Given the description of an element on the screen output the (x, y) to click on. 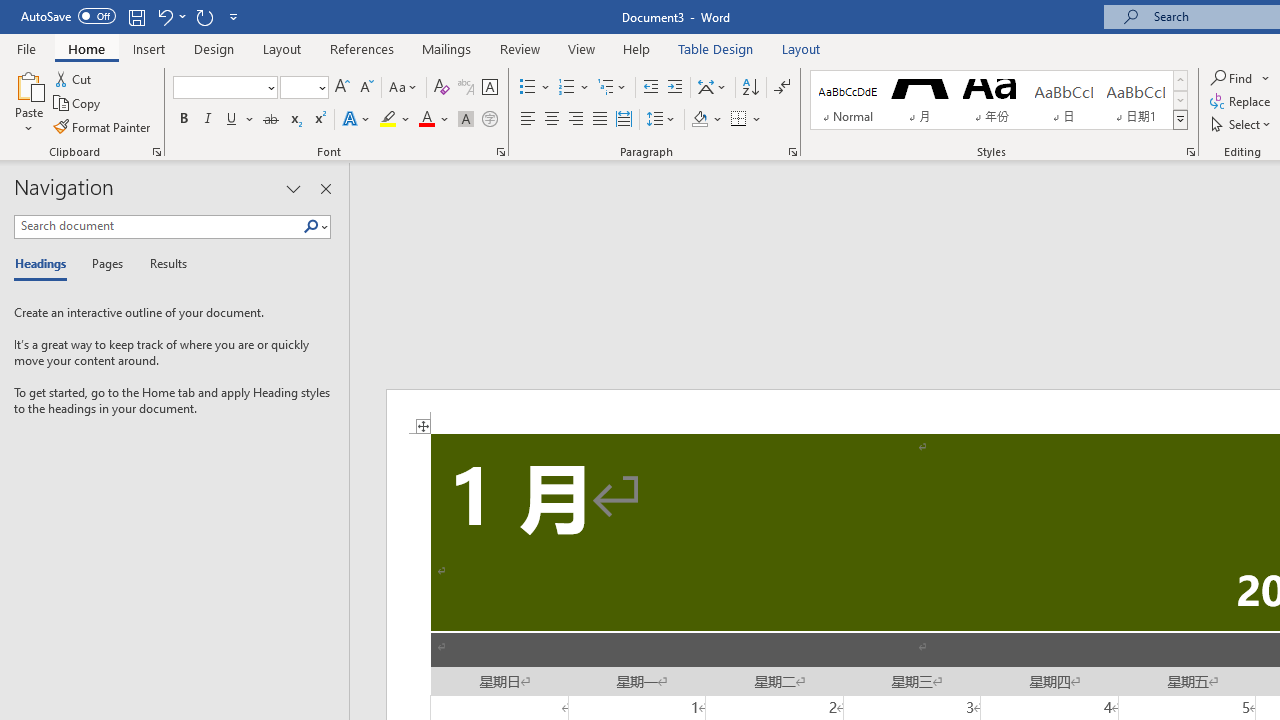
Table Design (715, 48)
Format Painter (103, 126)
More Options (1266, 78)
Font Size (297, 87)
Headings (45, 264)
Find (1240, 78)
Insert (149, 48)
Character Shading (465, 119)
